Given the description of an element on the screen output the (x, y) to click on. 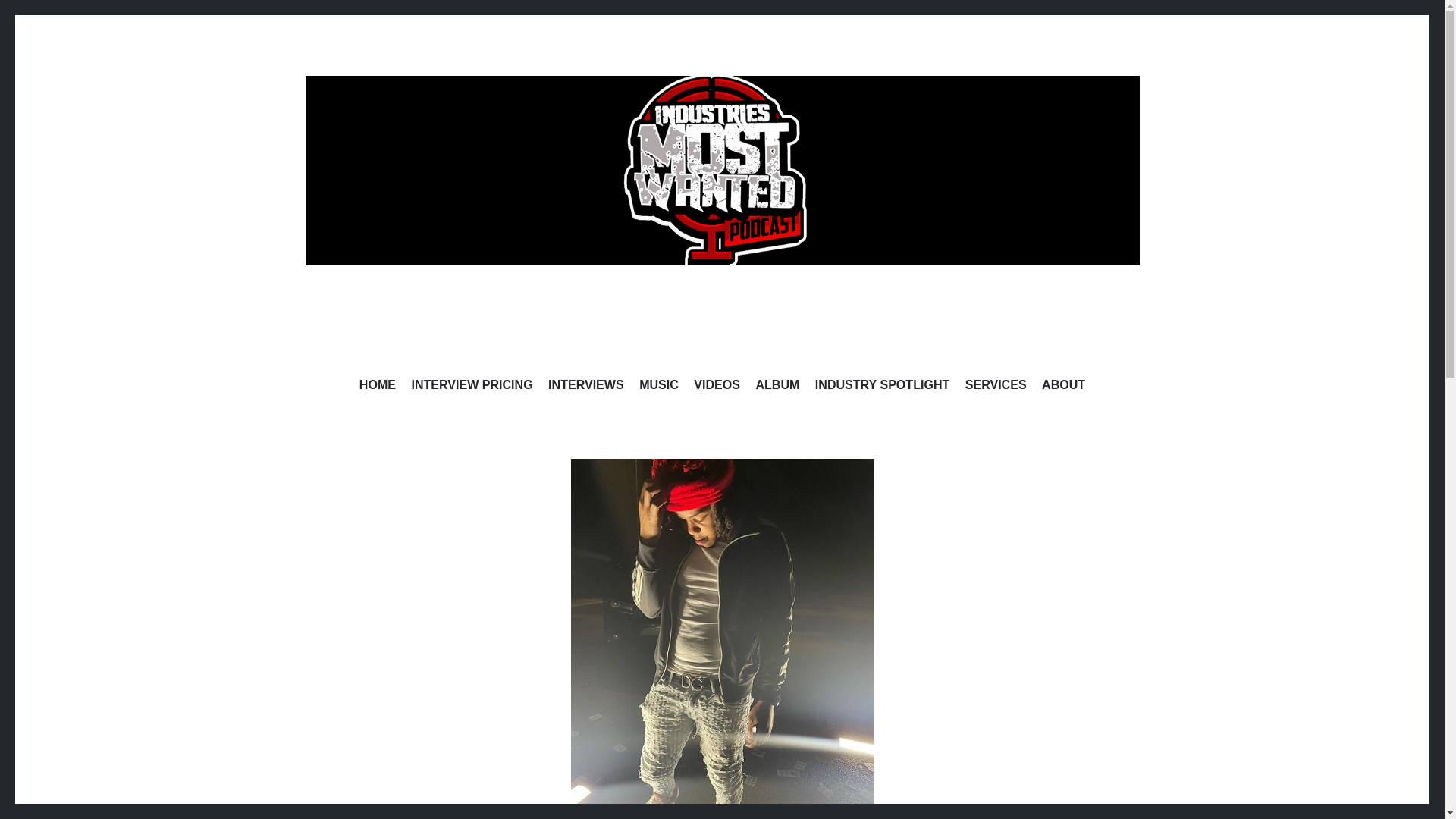
INTERVIEWS (586, 387)
MUSIC (658, 387)
HOME (377, 387)
ABOUT (1063, 387)
VIDEOS (716, 387)
SERVICES (995, 387)
INDUSTRY SPOTLIGHT (882, 387)
INTERVIEW PRICING (471, 387)
ALBUM (777, 387)
